Given the description of an element on the screen output the (x, y) to click on. 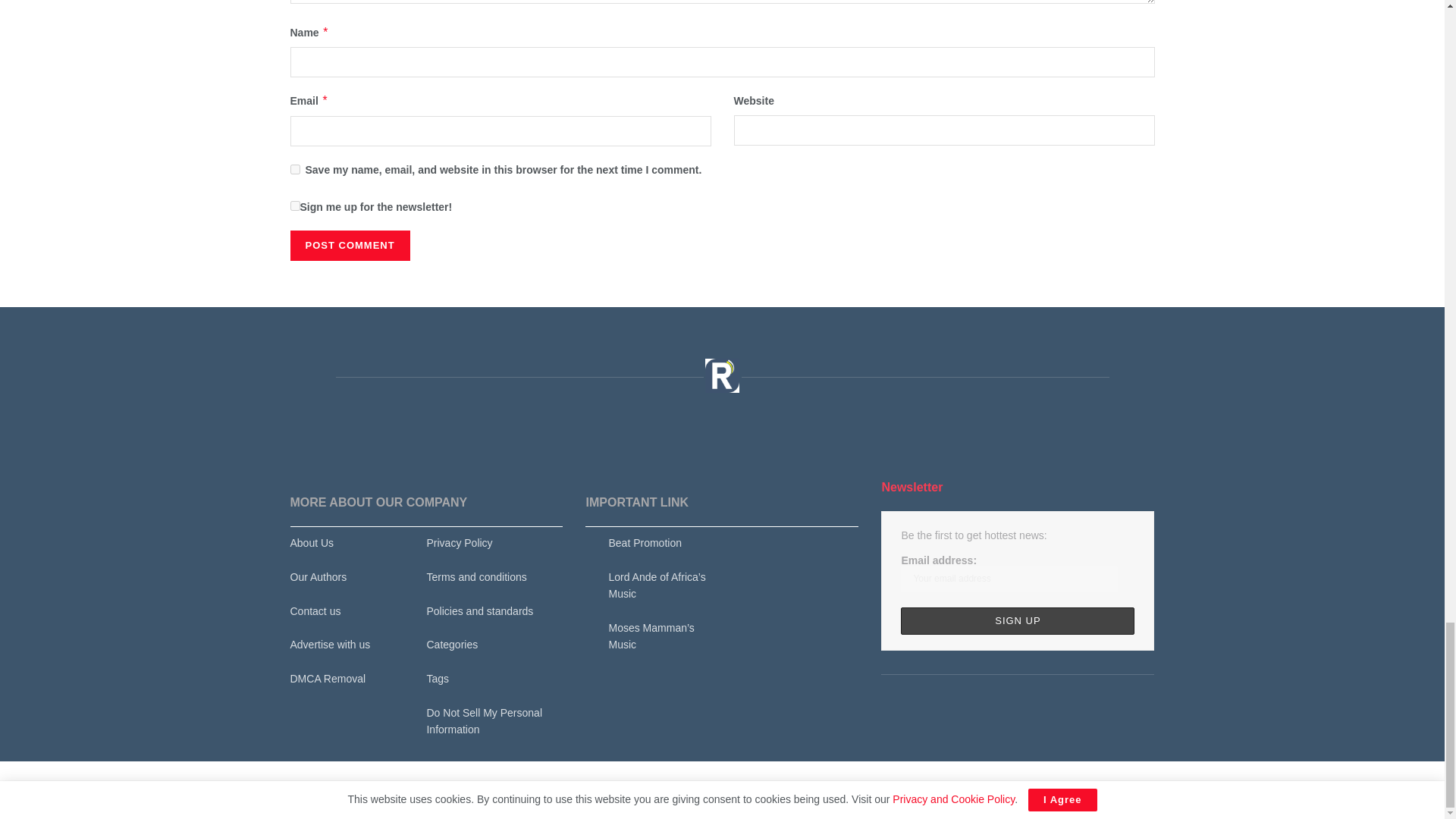
yes (294, 169)
1 (294, 205)
Sign up (1017, 620)
Post Comment (349, 245)
